Given the description of an element on the screen output the (x, y) to click on. 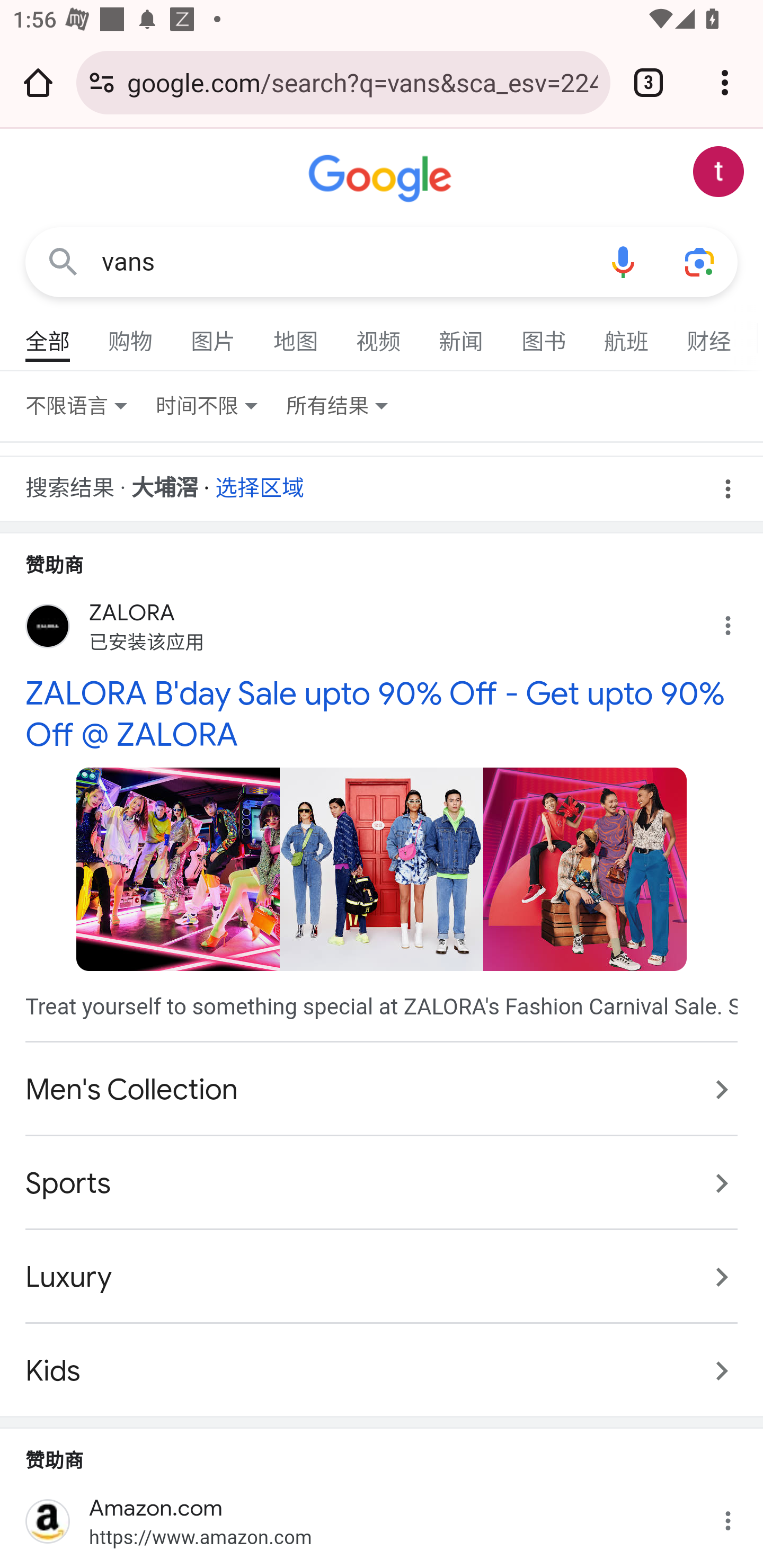
Open the home page (38, 82)
Connection is secure (101, 82)
Switch or close tabs (648, 82)
Customize and control Google Chrome (724, 82)
Google (381, 179)
Google 账号： test appium (testappium002@gmail.com) (718, 171)
Google 搜索 (63, 262)
使用拍照功能或照片进行搜索 (699, 262)
vans (343, 261)
购物 (131, 333)
图片 (213, 333)
地图 (296, 333)
视频 (379, 333)
新闻 (461, 333)
图书 (544, 333)
航班 (627, 333)
财经 (709, 333)
选择区域 (259, 481)
为什么会显示该广告？ (738, 621)
图片来自 zalora.com.hk (178, 868)
图片来自 zalora.com.hk (381, 868)
图片来自 zalora.com.hk (584, 868)
Men's Collection (381, 1089)
Sports (381, 1182)
Luxury (381, 1276)
Kids (381, 1360)
为什么会显示该广告？ (738, 1516)
